Given the description of an element on the screen output the (x, y) to click on. 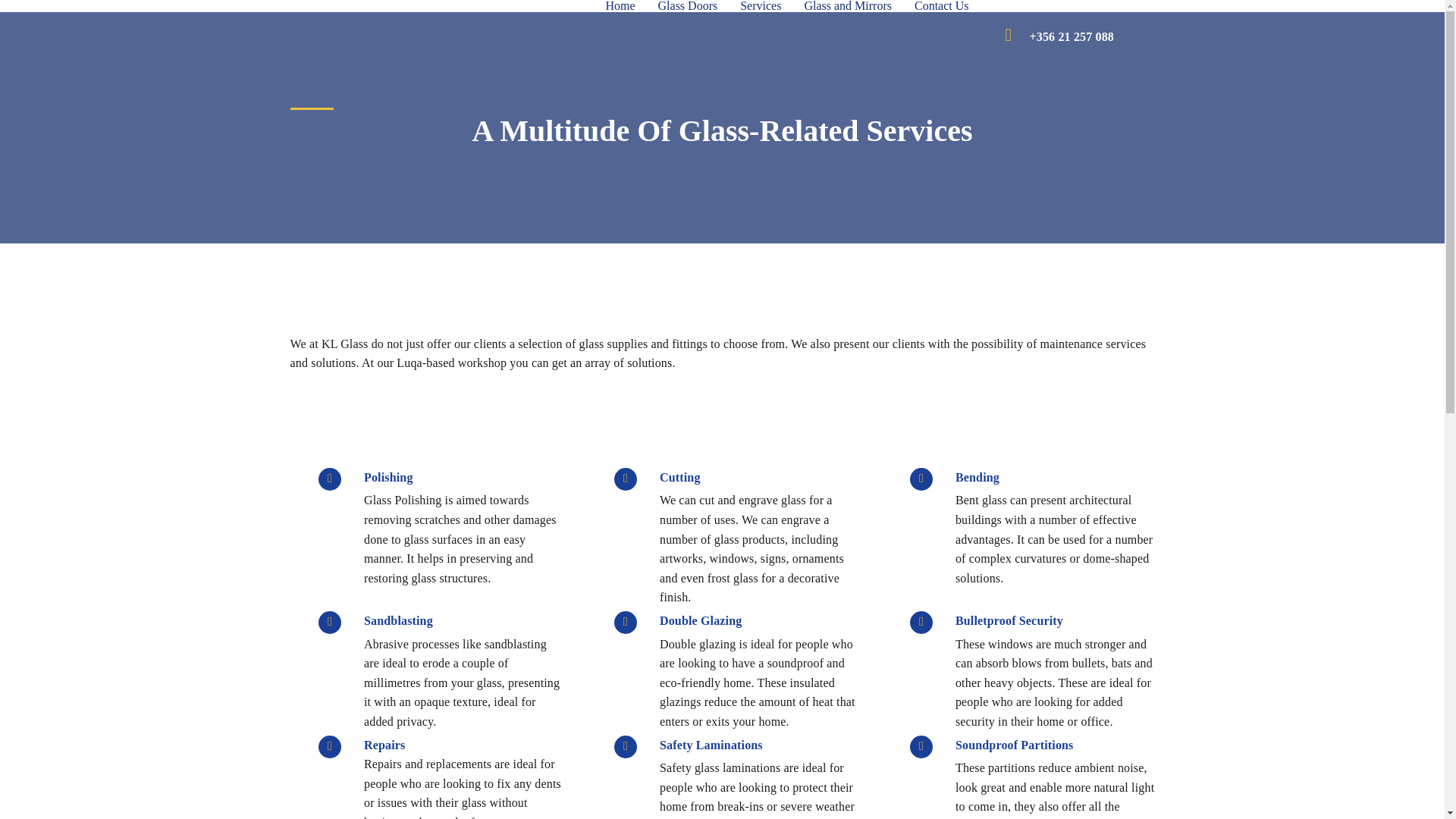
Home (620, 6)
Contact Us (940, 6)
Services (760, 6)
Glass and Mirrors (847, 6)
Glass Doors (687, 6)
